Given the description of an element on the screen output the (x, y) to click on. 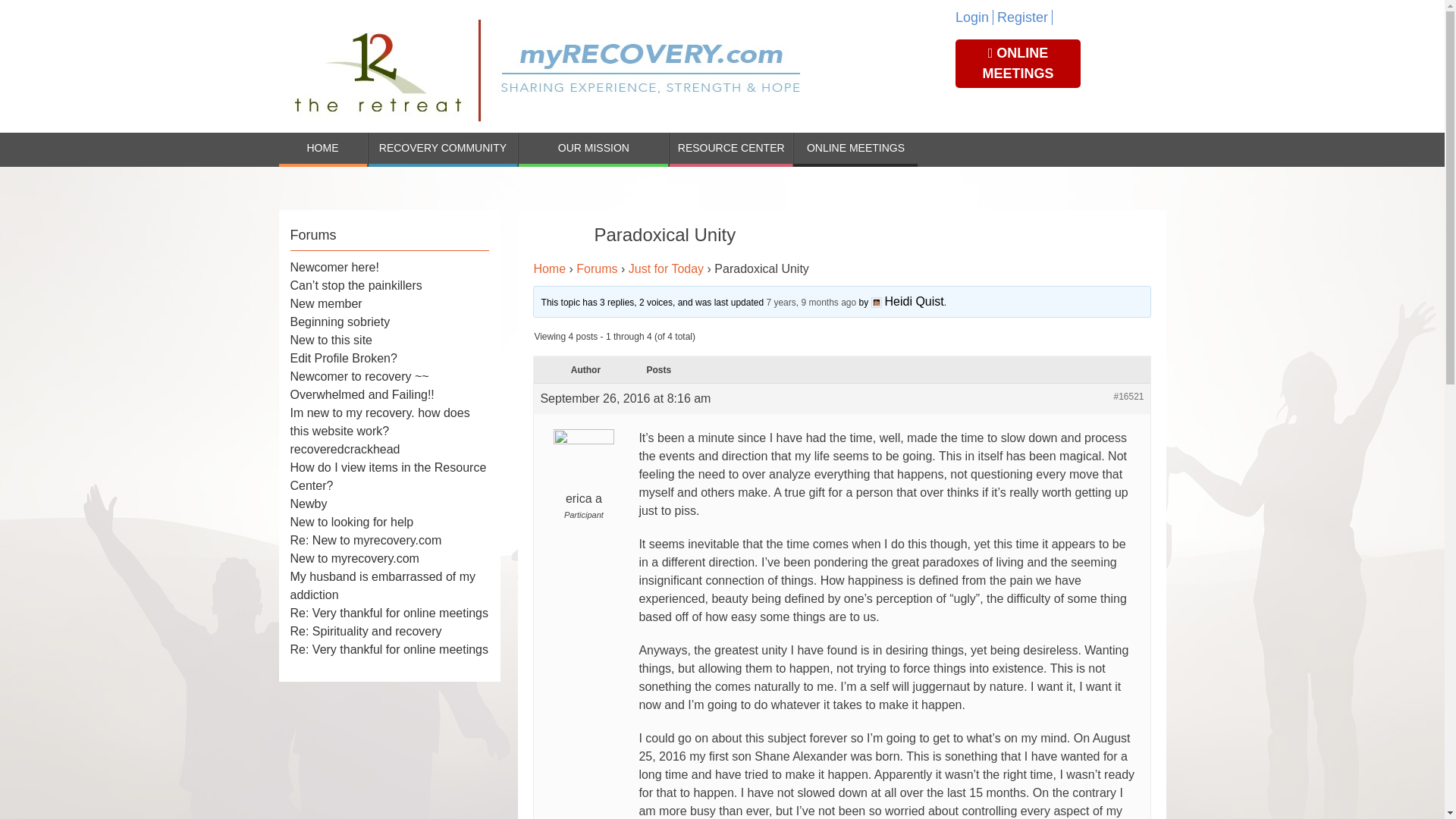
Home (549, 268)
ONLINE MEETINGS (1017, 63)
Forums (596, 268)
7 years, 9 months ago (810, 302)
Im new to my recovery. how does this website work? (378, 421)
Login (973, 17)
Newcomer here! (333, 267)
Beginning sobriety (339, 321)
Re: Paradoxical Unity (810, 302)
RECOVERY COMMUNITY (443, 149)
RESOURCE CENTER (730, 149)
ONLINE MEETINGS (855, 149)
New to this site (330, 339)
HOME (322, 149)
Register (1024, 17)
